Given the description of an element on the screen output the (x, y) to click on. 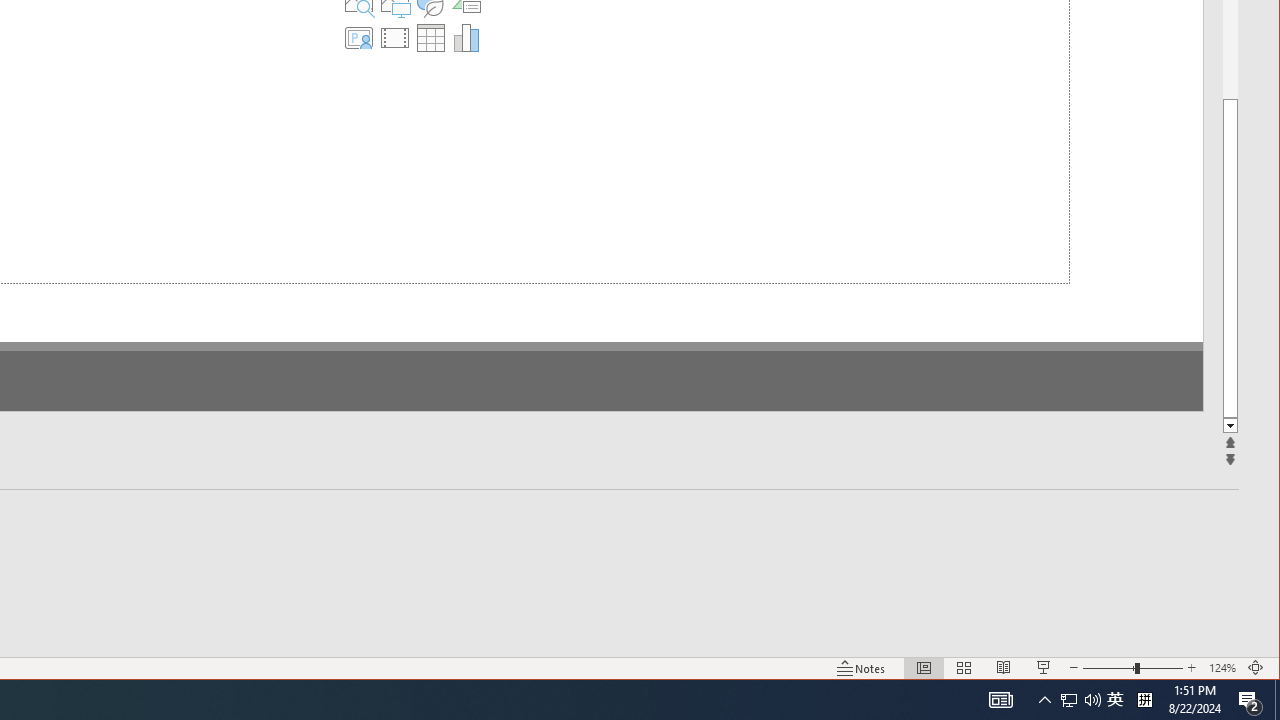
Insert Cameo (287, 75)
Insert Table (359, 75)
Stock Images (287, 39)
Pictures (323, 39)
